Given the description of an element on the screen output the (x, y) to click on. 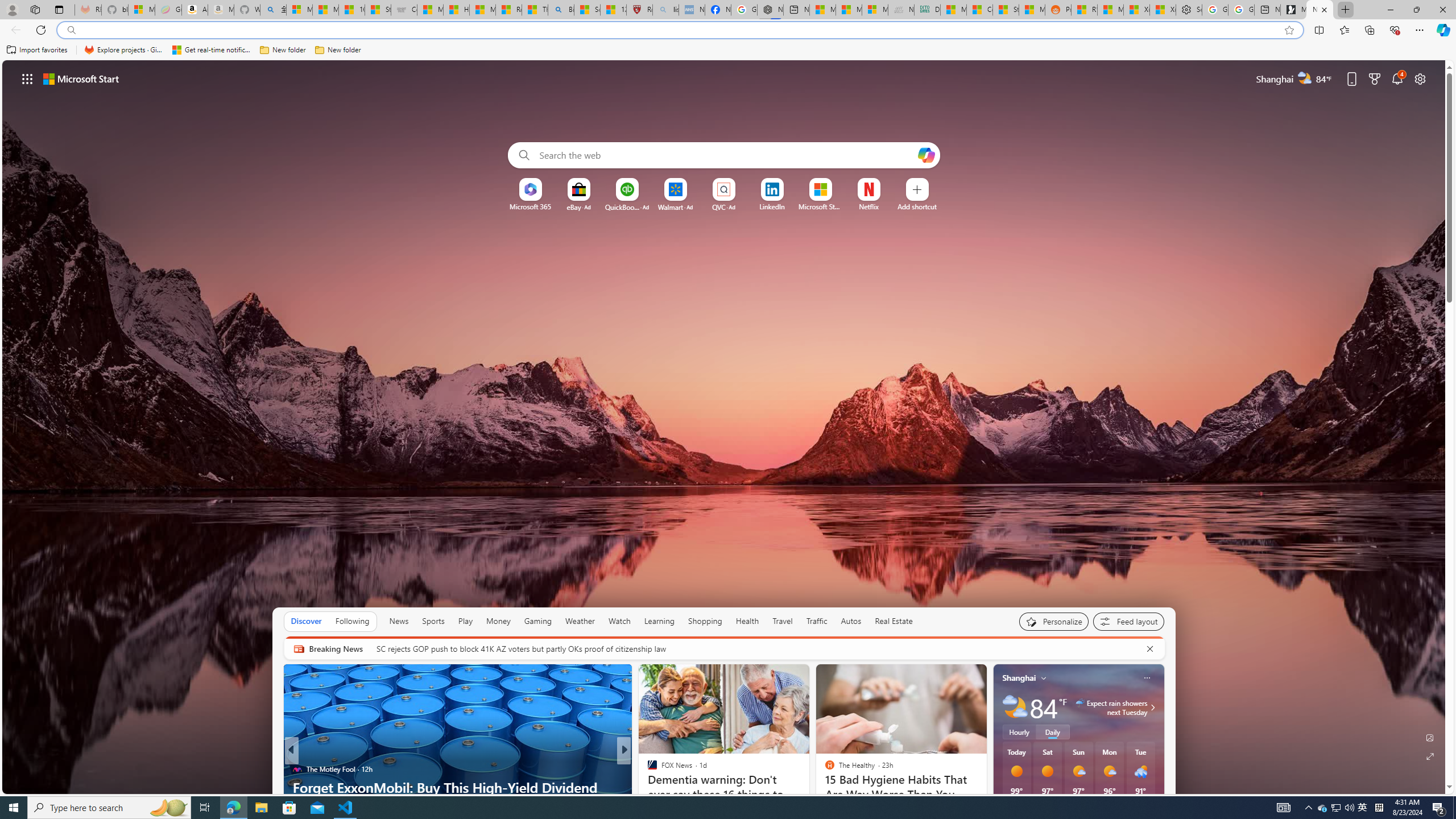
The Motley Fool (647, 768)
Expect rain showers next Tuesday (1150, 707)
